Given the description of an element on the screen output the (x, y) to click on. 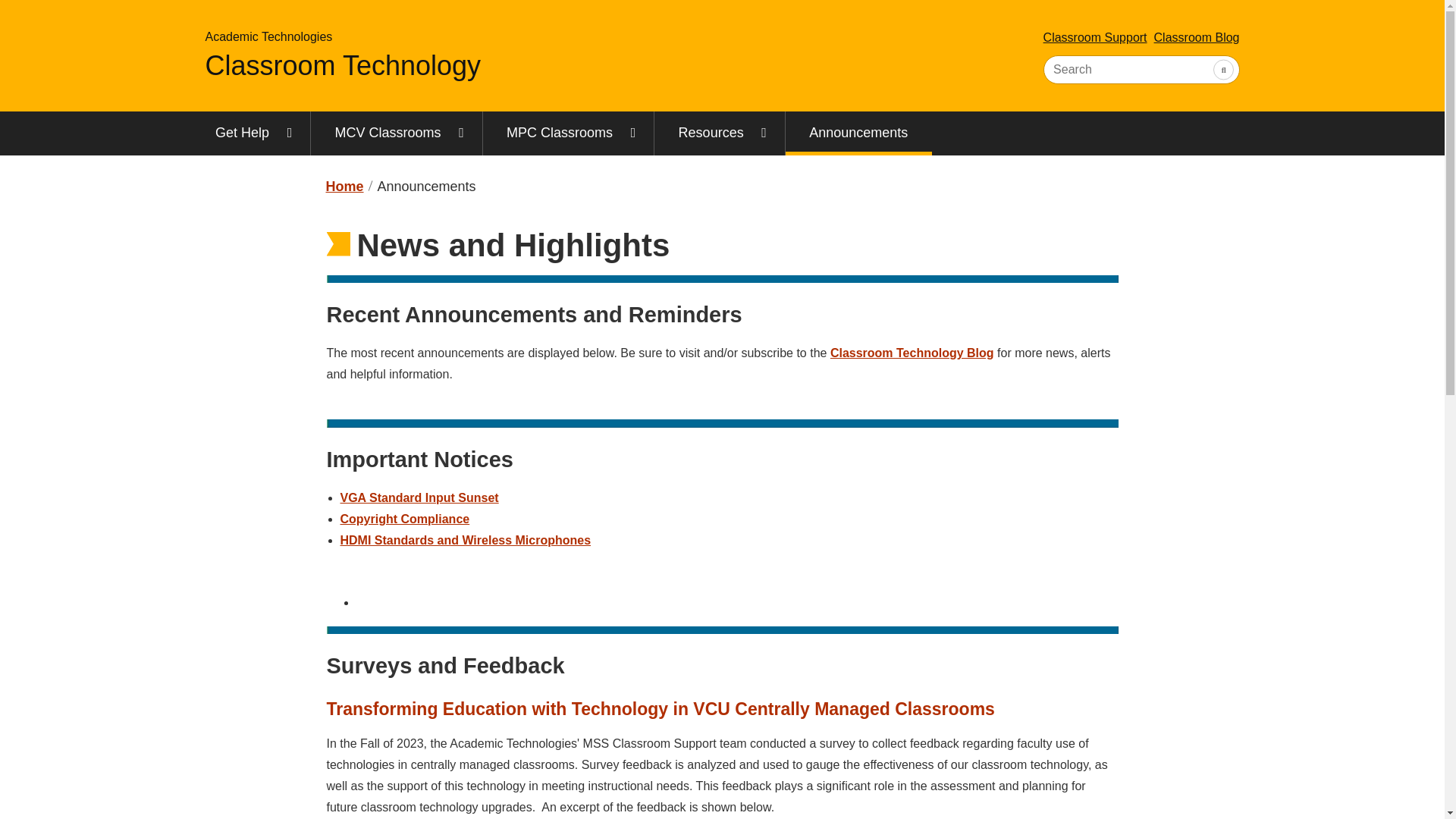
MCV Classrooms (396, 133)
Get Help (250, 133)
Classroom Technology (344, 186)
Academic Technologies (268, 36)
Classroom Support (1095, 37)
Classroom Technology Blog (911, 352)
MPC Classrooms (568, 133)
Classroom Blog (1197, 37)
Classroom Technology (342, 65)
